Given the description of an element on the screen output the (x, y) to click on. 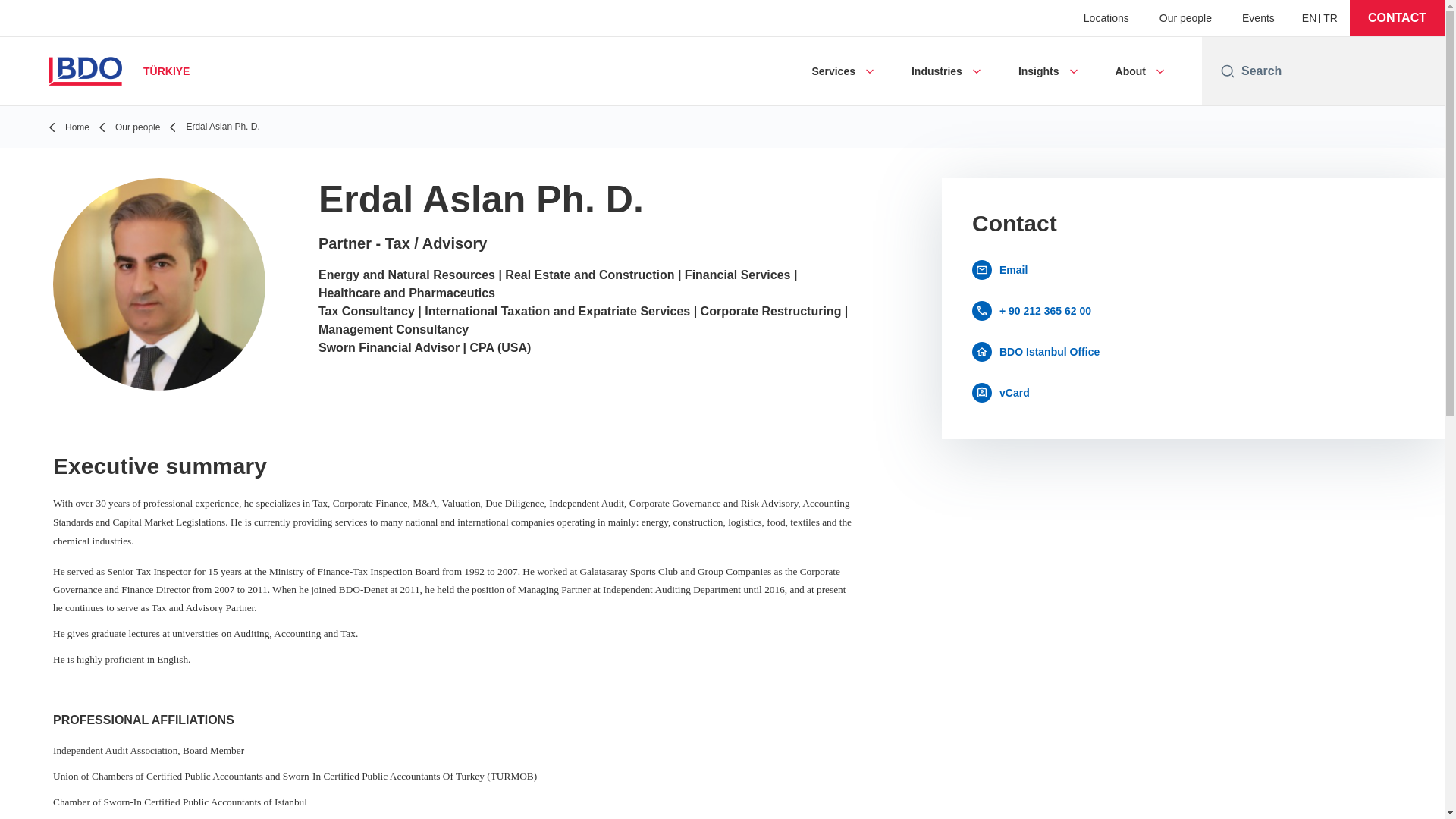
Events (1258, 18)
EN (1308, 17)
Our people (1184, 18)
Industries (936, 71)
Services (833, 71)
Locations (1106, 18)
TR (1330, 17)
Search (1336, 70)
